Given the description of an element on the screen output the (x, y) to click on. 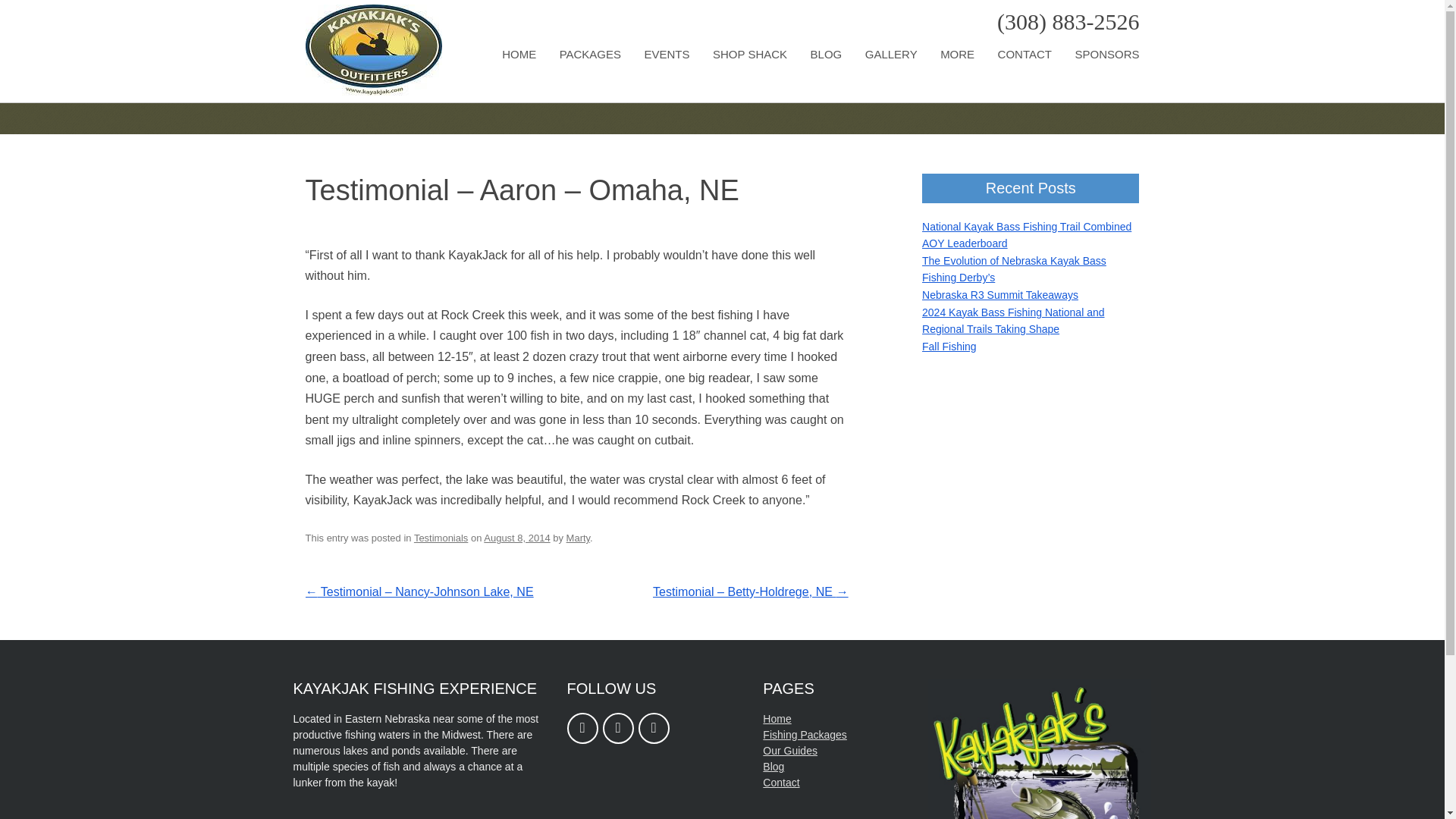
PACKAGES (590, 54)
Facebook (582, 727)
CONTACT (1024, 54)
Kayakjak Outfitters (372, 91)
Twitter (654, 727)
August 8, 2014 (516, 537)
SHOP SHACK (750, 54)
4:42 pm (516, 537)
F.A.Q. (1016, 91)
SPONSORS (1106, 54)
